Given the description of an element on the screen output the (x, y) to click on. 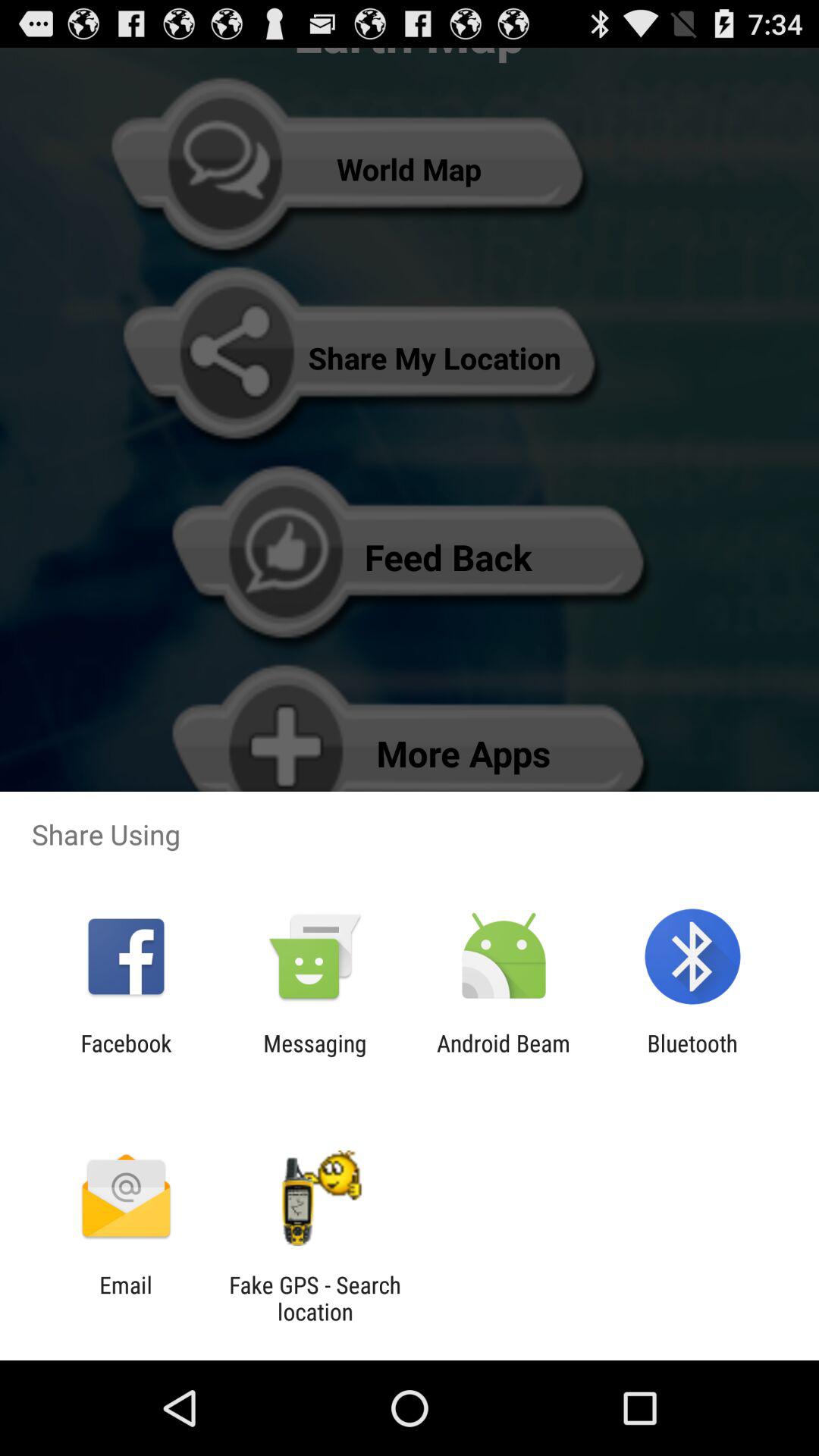
press the app next to bluetooth (503, 1056)
